Given the description of an element on the screen output the (x, y) to click on. 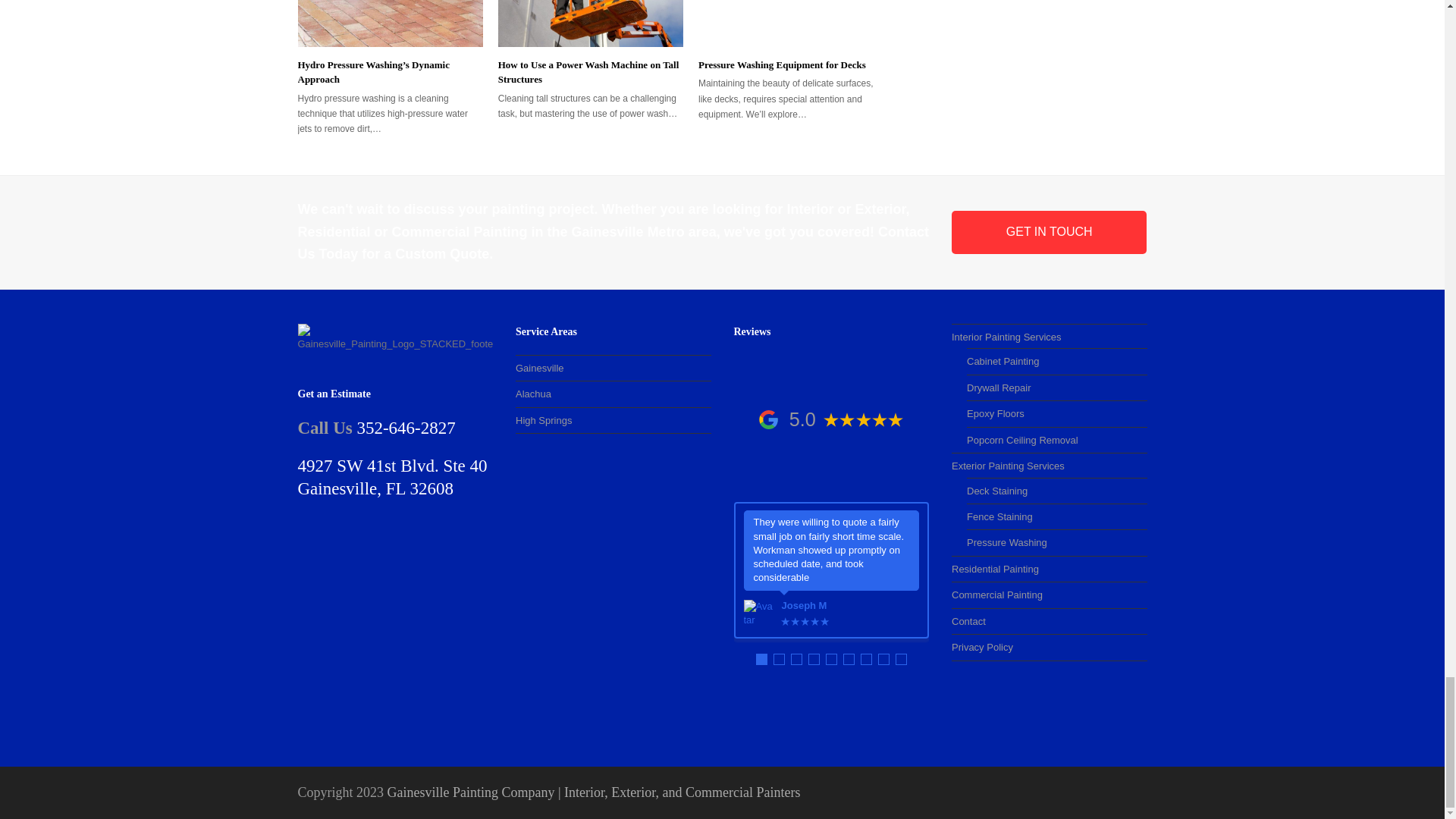
How to Use a Power Wash Machine on Tall Structures (589, 22)
Powered by Google (767, 419)
Pressure Washing Equipment for Decks (782, 64)
GET IN TOUCH (1049, 231)
How to Use a Power Wash Machine on Tall Structures (588, 71)
Pressure Washing Equipment for Decks (790, 22)
